Given the description of an element on the screen output the (x, y) to click on. 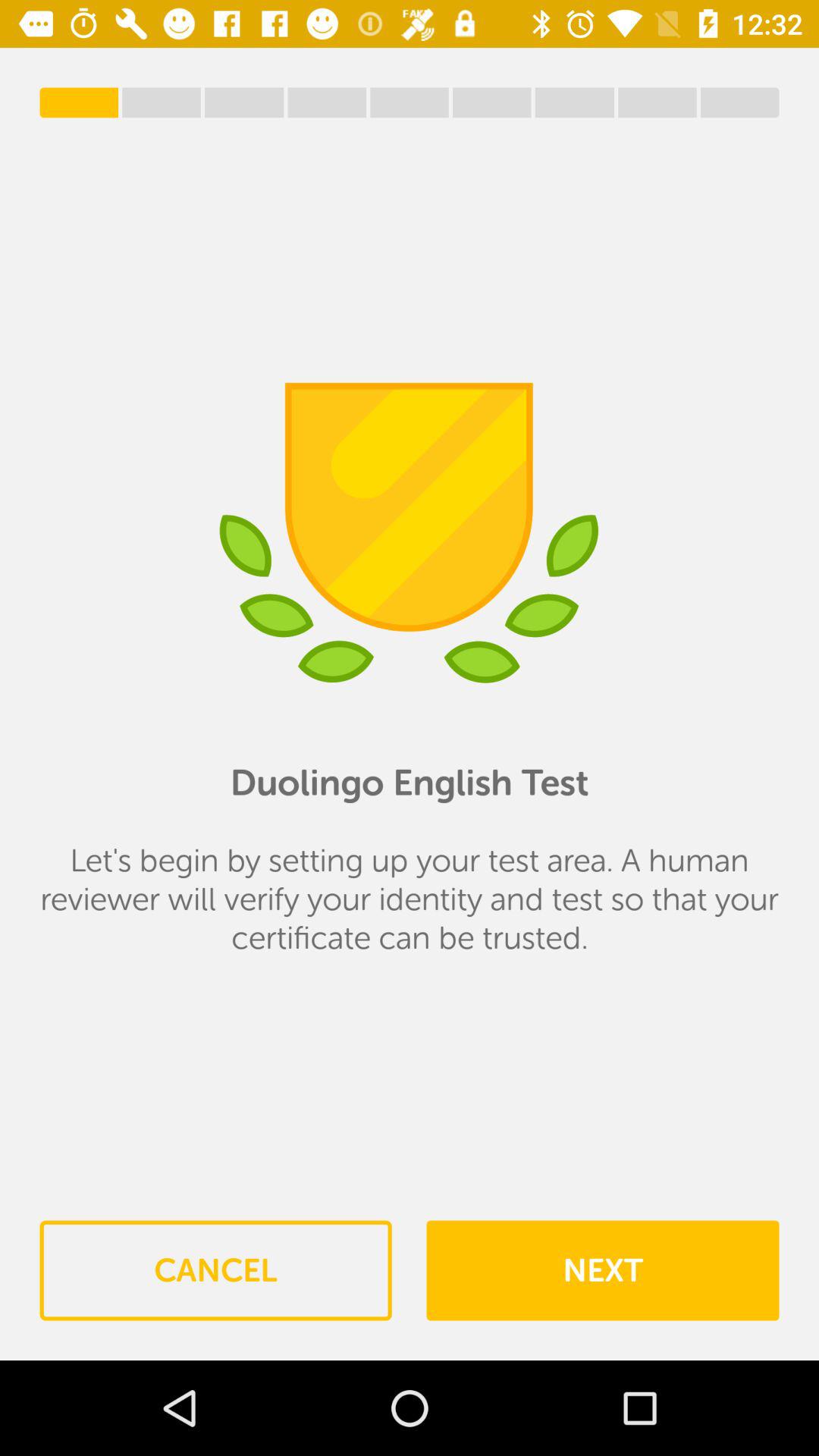
tap the next at the bottom right corner (602, 1270)
